Given the description of an element on the screen output the (x, y) to click on. 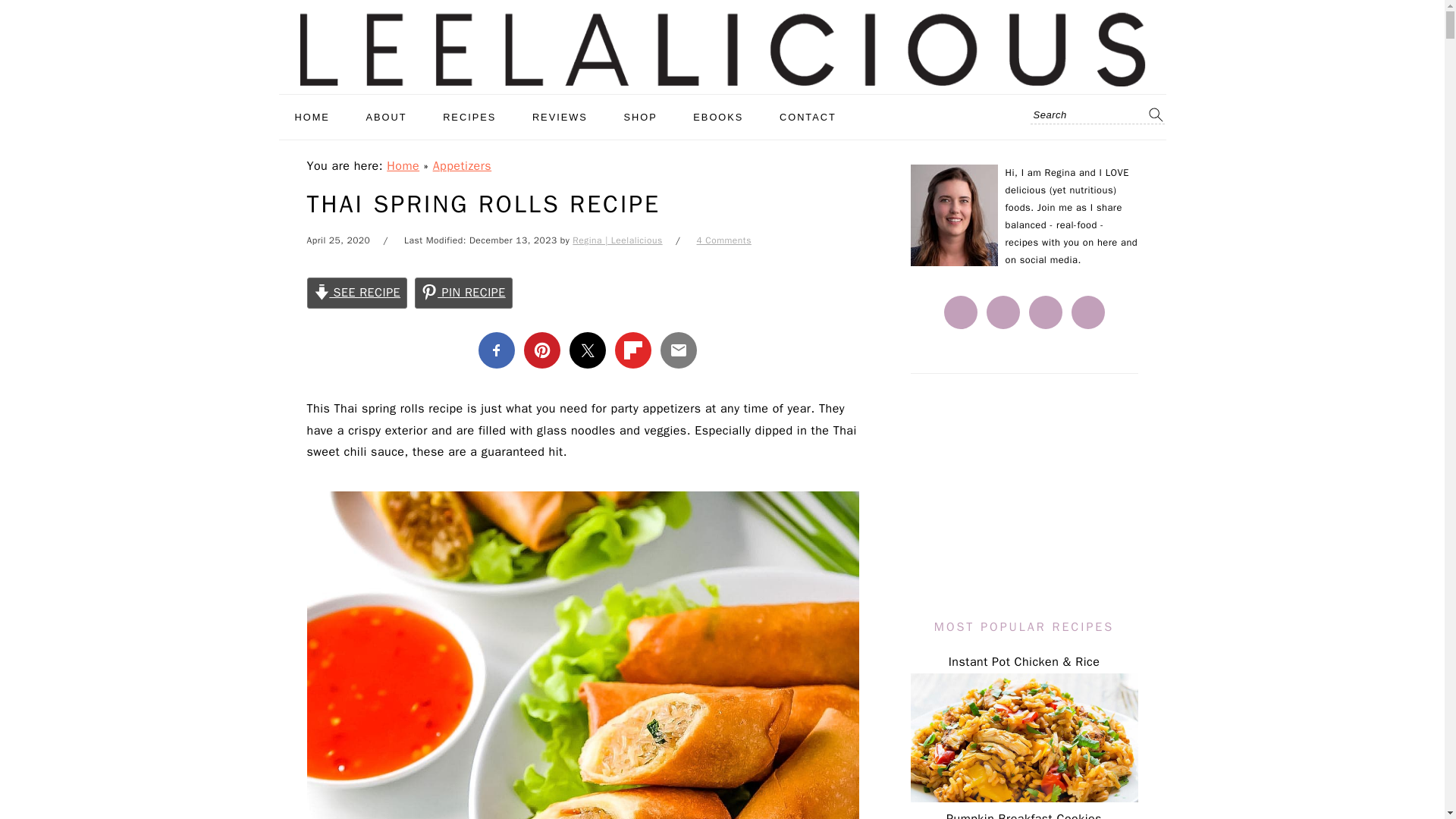
EBOOKS (717, 116)
HOME (312, 116)
LeelaLicious (722, 43)
SHOP (639, 116)
REVIEWS (560, 116)
Instant Pot Chicken and Rice (1023, 737)
ABOUT (385, 116)
CONTACT (806, 116)
